Given the description of an element on the screen output the (x, y) to click on. 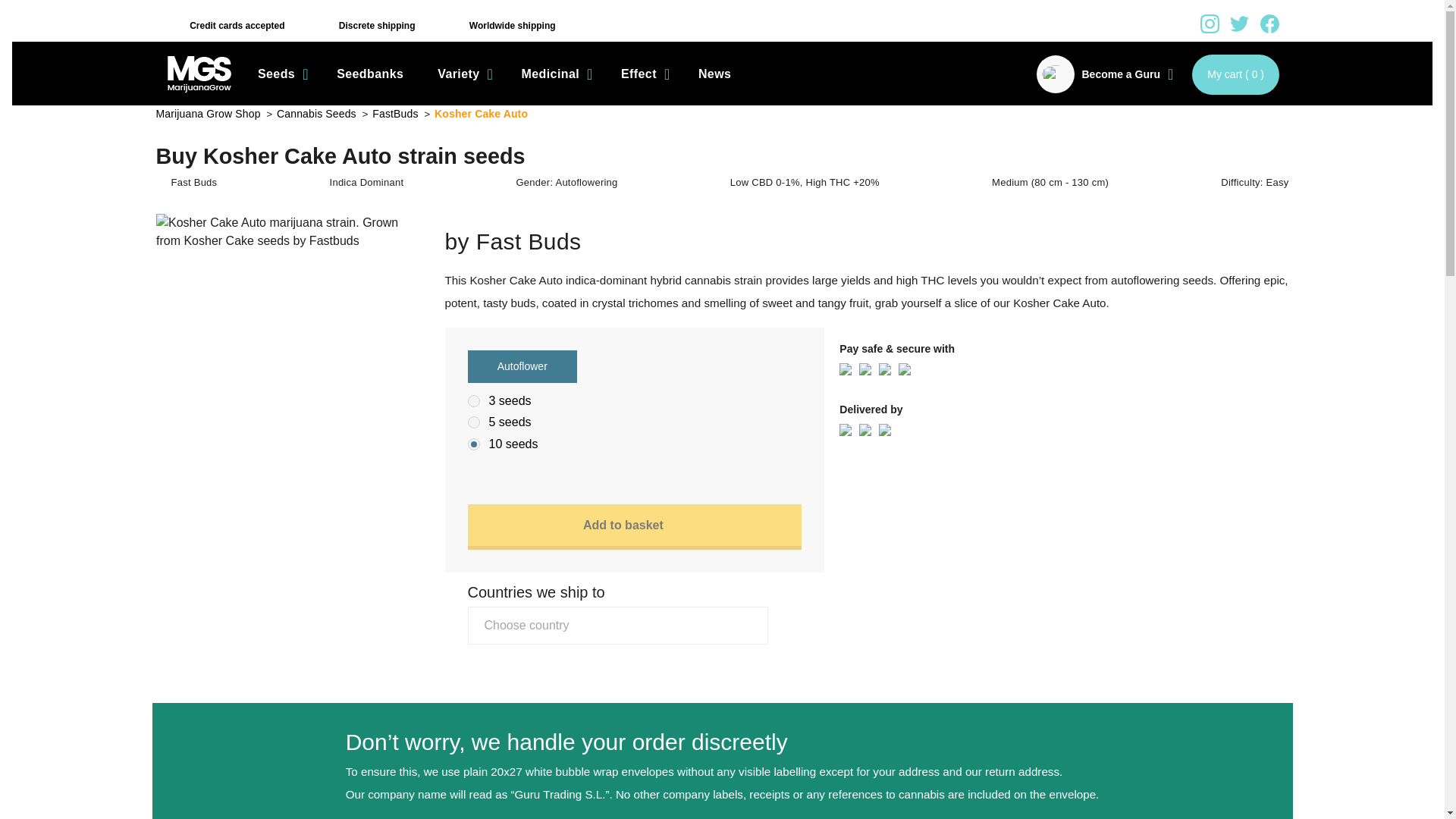
Seedbanks (370, 74)
Go to Marijuana Grow Shop. (208, 113)
Medicinal (554, 74)
Go to the FastBuds category archives. (395, 113)
Effect (642, 74)
Go to the Cannabis Seeds Category archives. (317, 113)
Variety (462, 74)
Marijuana Grow Shop (199, 74)
Seeds (280, 74)
